Given the description of an element on the screen output the (x, y) to click on. 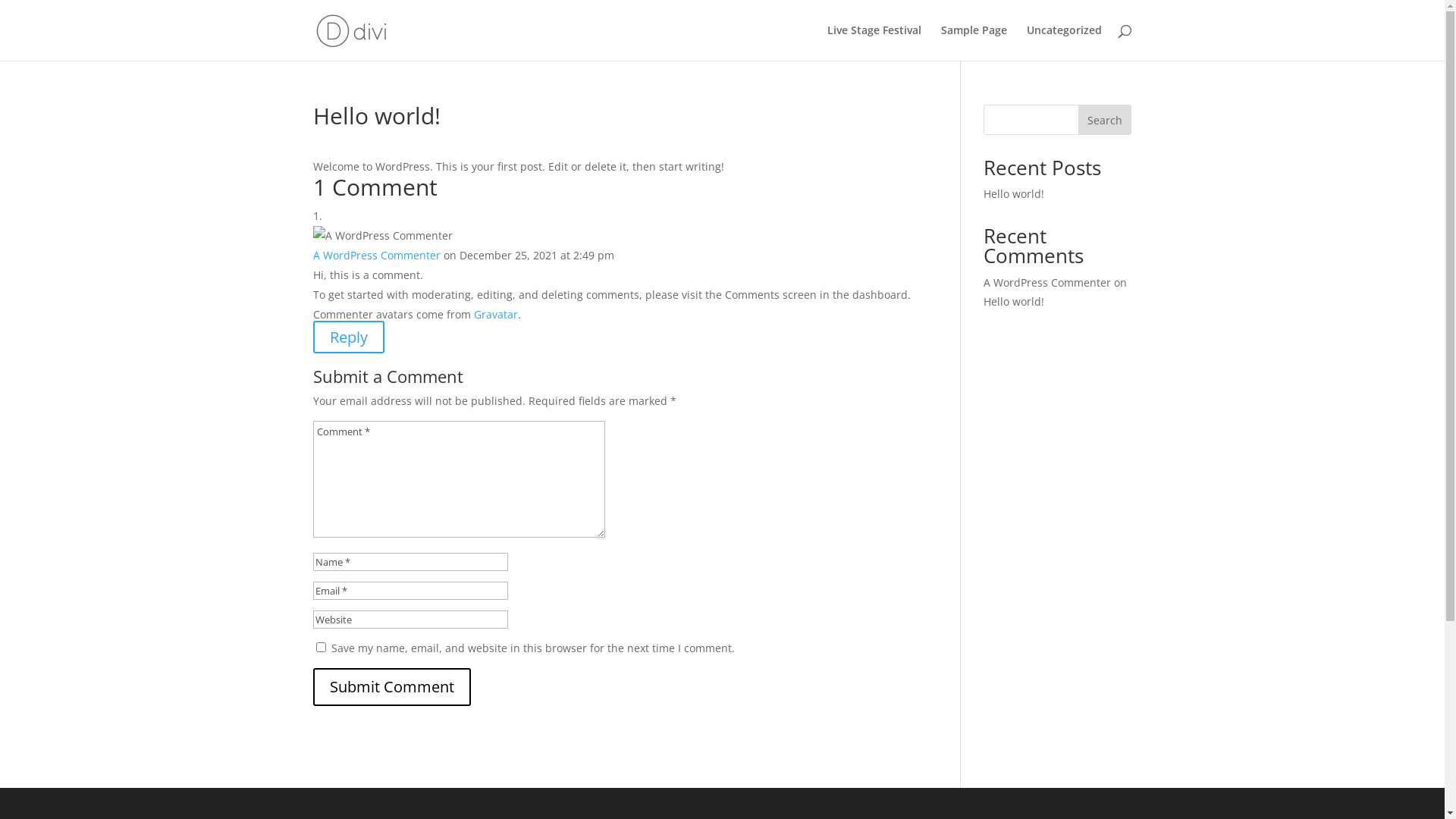
Gravatar Element type: text (495, 314)
Submit Comment Element type: text (391, 687)
Reply Element type: text (347, 336)
Sample Page Element type: text (973, 42)
Hello world! Element type: text (1013, 301)
A WordPress Commenter Element type: text (1046, 282)
A WordPress Commenter Element type: text (375, 254)
Hello world! Element type: text (1013, 193)
Uncategorized Element type: text (1063, 42)
Search Element type: text (1104, 119)
Live Stage Festival Element type: text (873, 42)
